Given the description of an element on the screen output the (x, y) to click on. 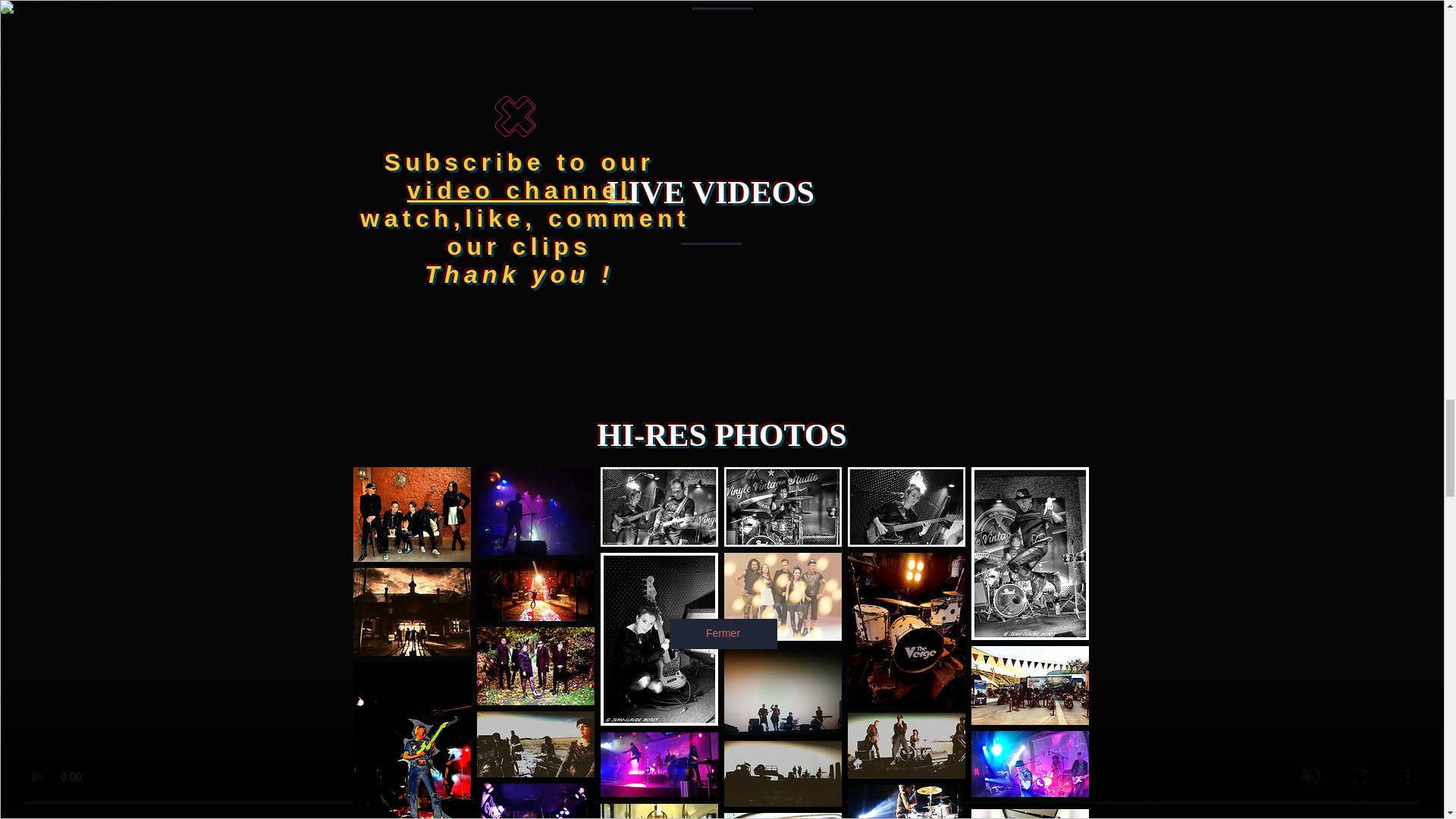
Metrics (647, 212)
google app (455, 262)
External YouTube (863, 333)
External YouTube (568, 333)
